Given the description of an element on the screen output the (x, y) to click on. 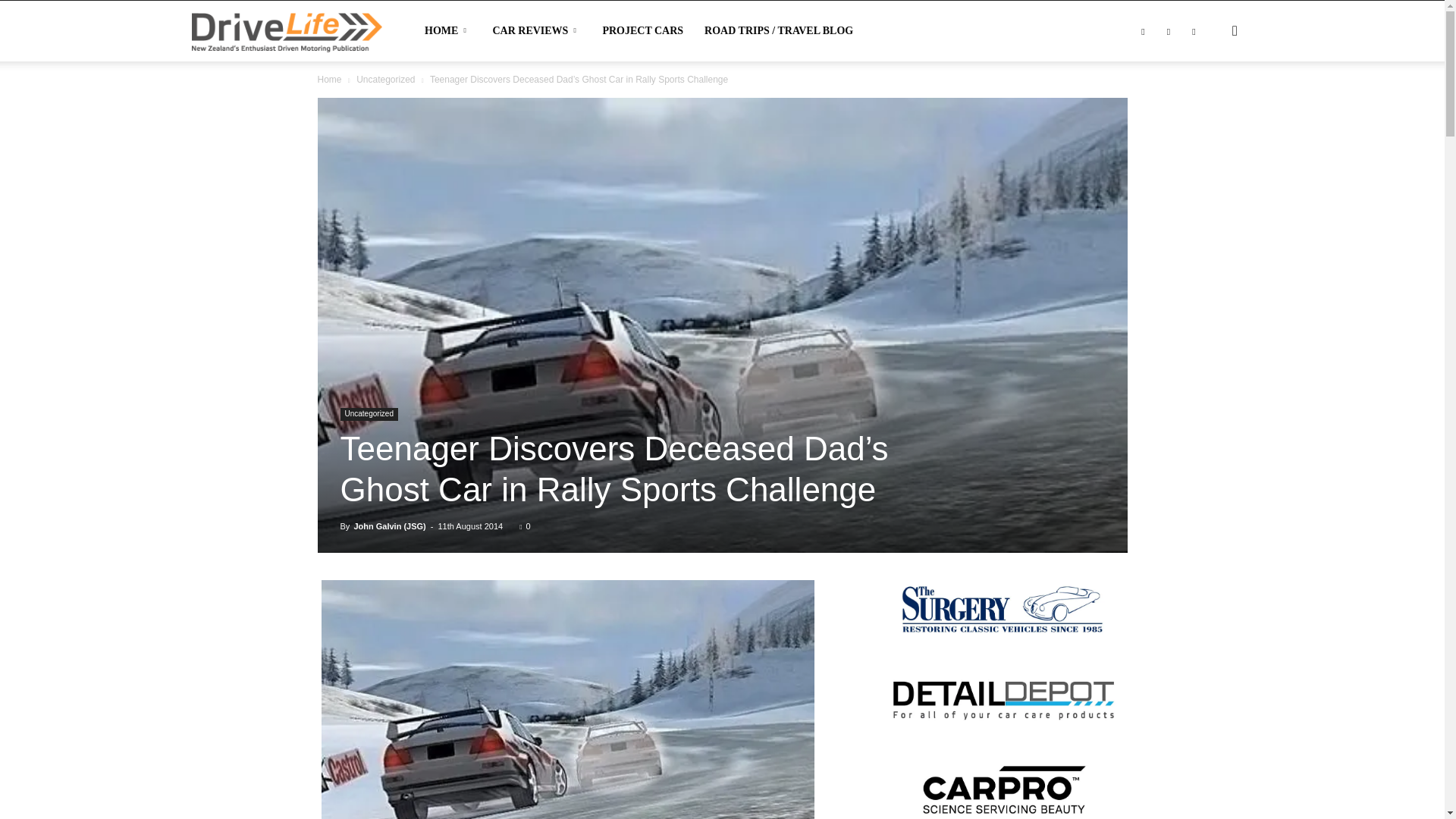
PROJECT CARS (642, 30)
Uncategorized (368, 413)
DriveLife (285, 30)
Uncategorized (385, 79)
Home (328, 79)
HOME (447, 30)
CAR REVIEWS (536, 30)
Search (1210, 103)
View all posts in Uncategorized (385, 79)
